Given the description of an element on the screen output the (x, y) to click on. 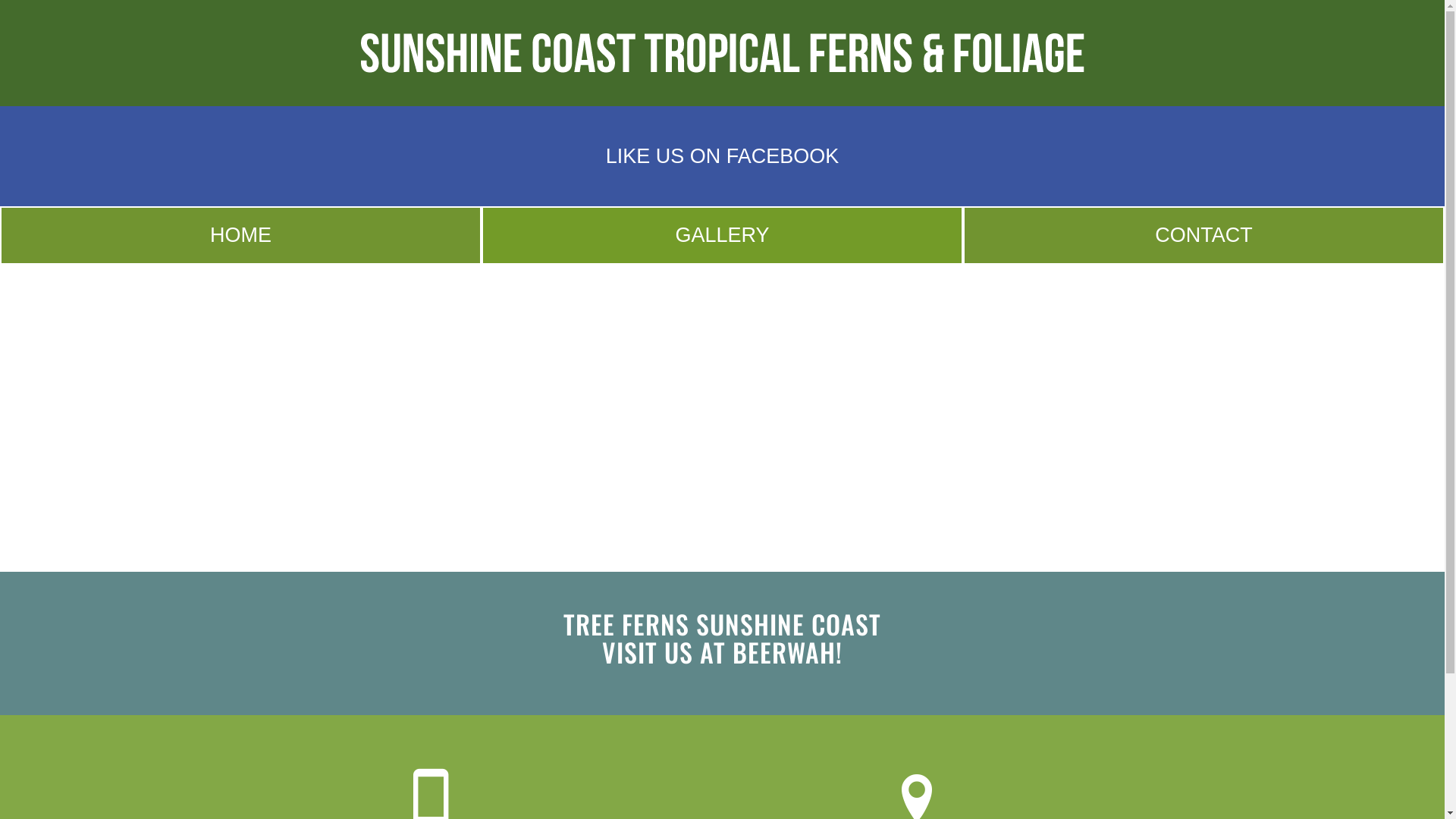
GALLERY Element type: text (722, 234)
HOME Element type: text (240, 234)
CONTACT Element type: text (1203, 234)
LIKE US ON FACEBOOK Element type: text (722, 156)
